Given the description of an element on the screen output the (x, y) to click on. 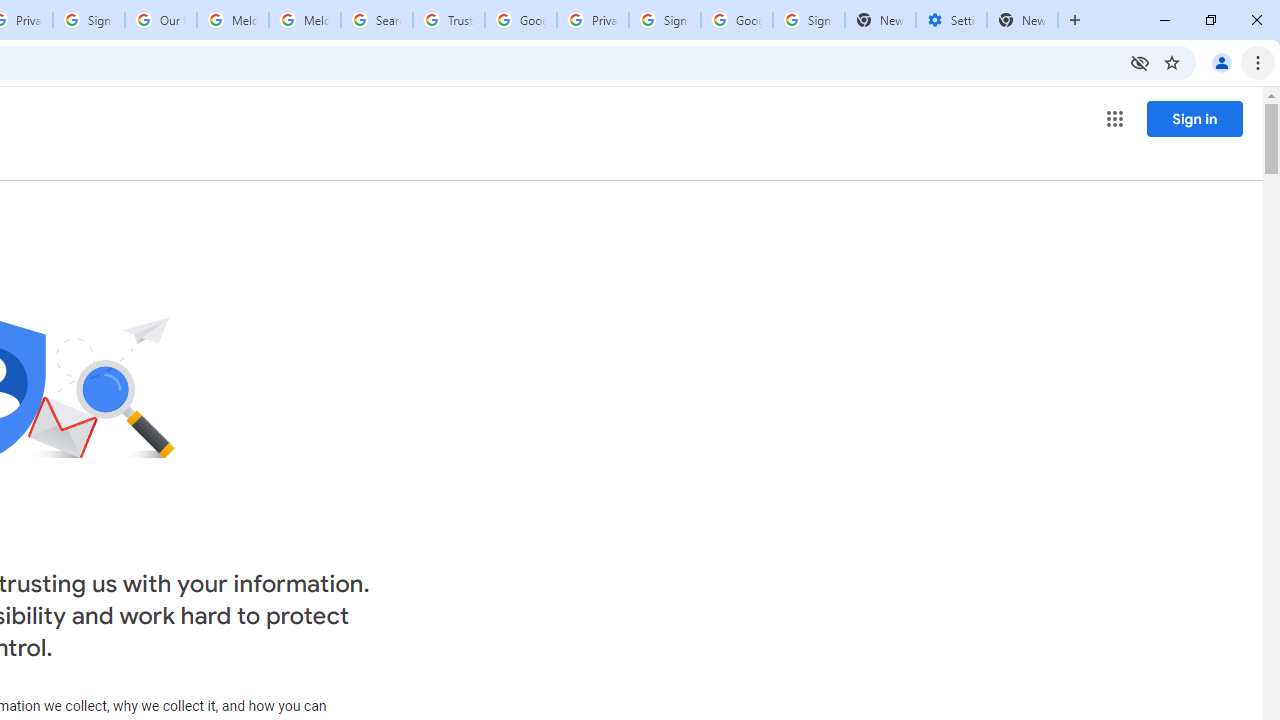
Google Ads - Sign in (520, 20)
Sign in - Google Accounts (664, 20)
Sign in - Google Accounts (808, 20)
Google Cybersecurity Innovations - Google Safety Center (737, 20)
